Given the description of an element on the screen output the (x, y) to click on. 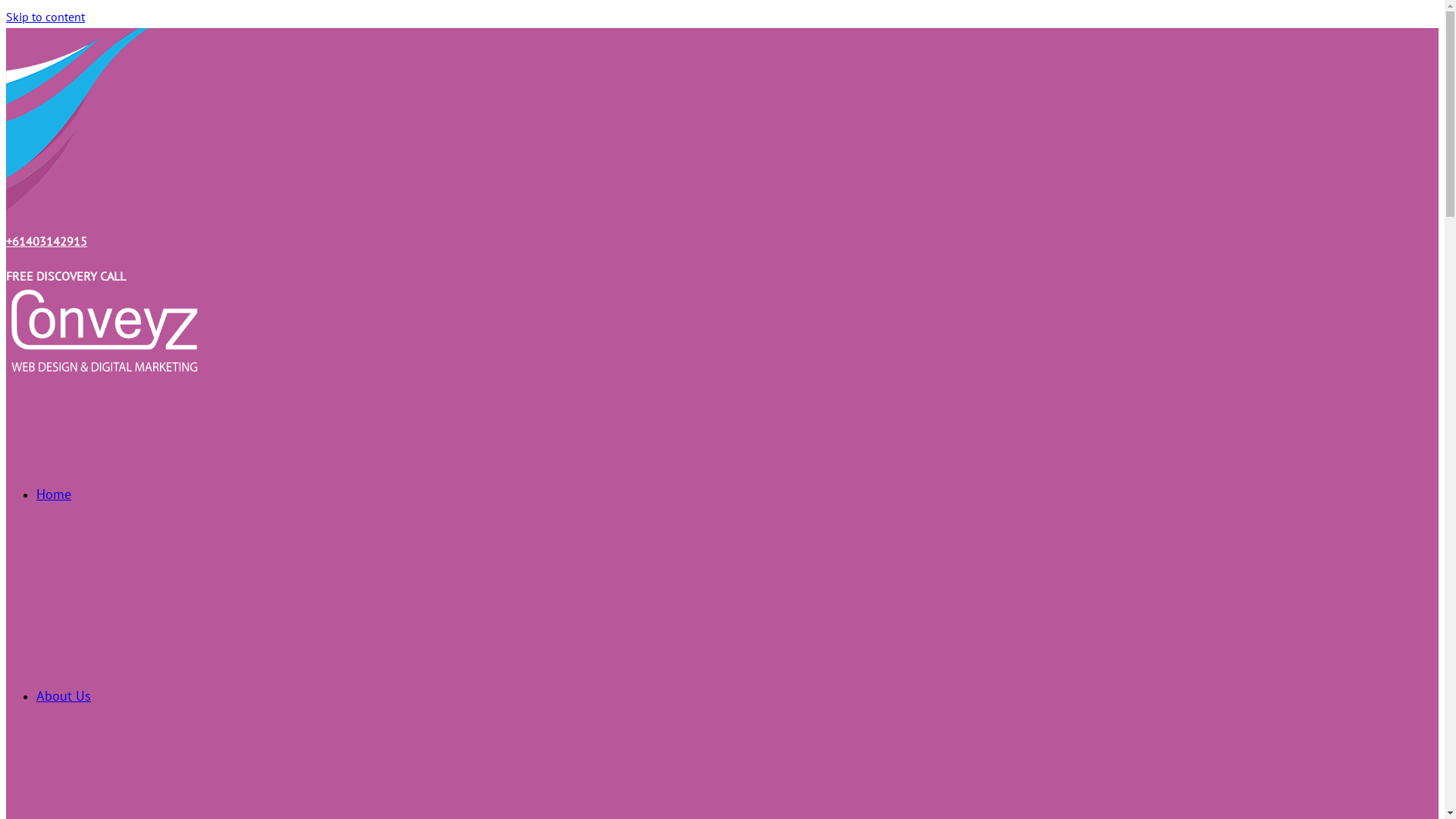
Home Element type: text (53, 493)
+61403142915 Element type: text (46, 240)
FREE DISCOVERY CALL Element type: text (65, 275)
About Us Element type: text (63, 695)
SEO Services in Brisbane | Web Design & Development Brisbane Element type: text (224, 408)
Skip to content Element type: text (45, 16)
